Given the description of an element on the screen output the (x, y) to click on. 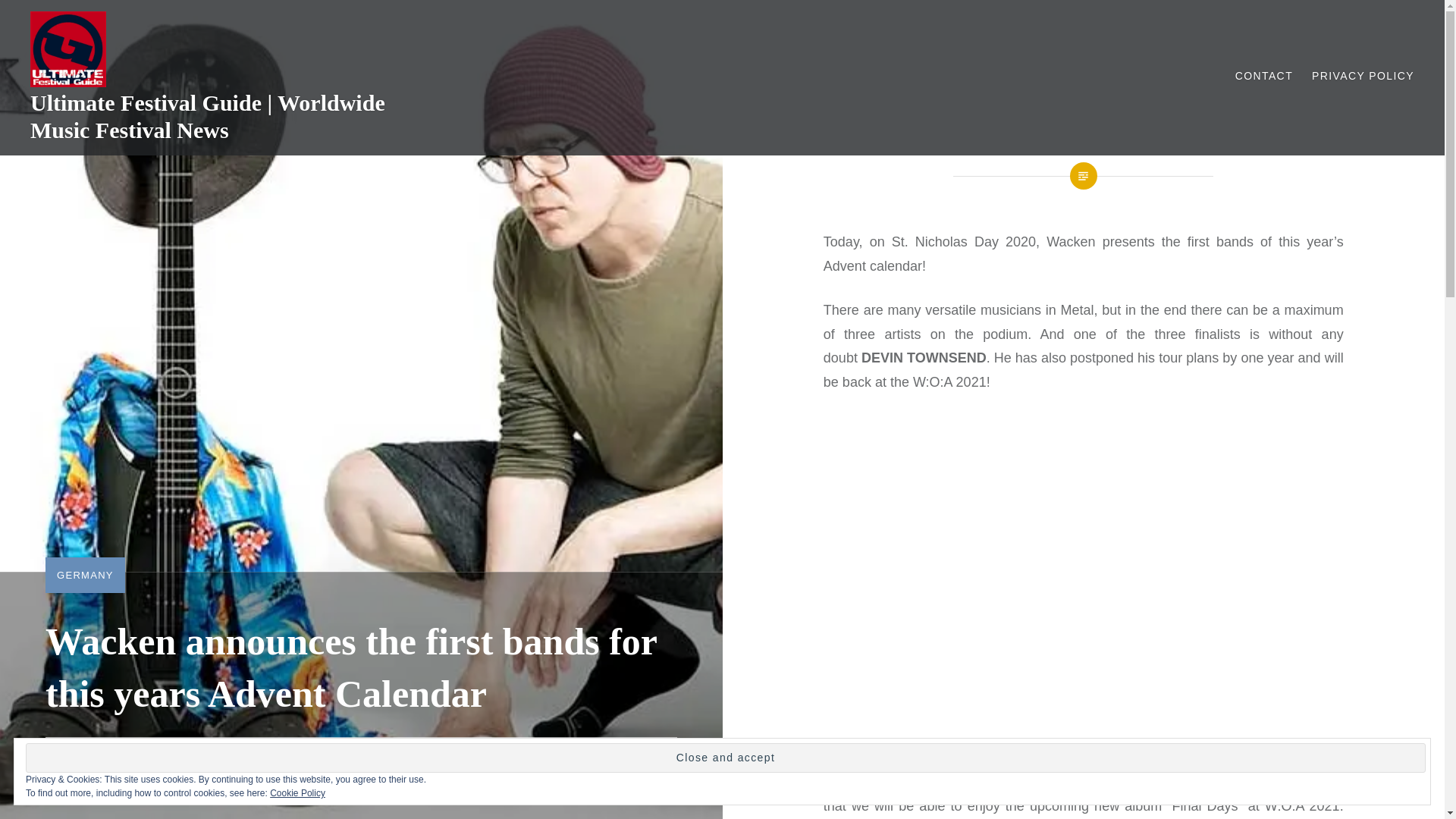
Close and accept (725, 757)
PRIVACY POLICY (1362, 76)
DECEMBER 8, 2020 (216, 763)
ANDY (117, 763)
CONTACT (1263, 76)
Close and accept (725, 757)
Cookie Policy (296, 792)
GERMANY (84, 574)
